Given the description of an element on the screen output the (x, y) to click on. 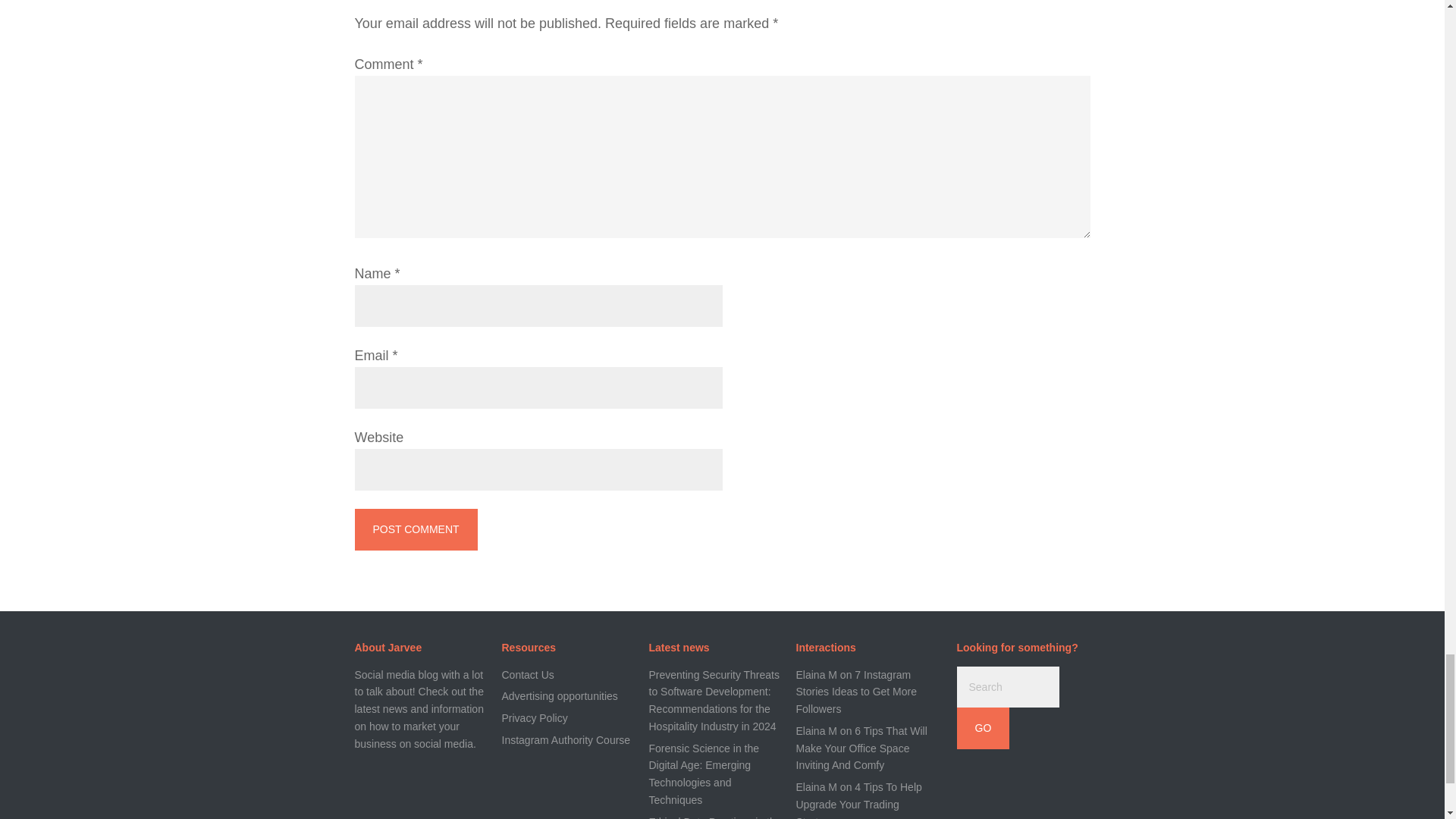
Go (983, 728)
Go (983, 728)
Instagram Authority Course (566, 739)
6 Tips That Will Make Your Office Space Inviting And Comfy (861, 748)
Privacy Policy (534, 717)
Post Comment (416, 529)
7 Instagram Stories Ideas to Get More Followers (856, 692)
Post Comment (416, 529)
Go (983, 728)
Contact Us (528, 674)
Advertising opportunities (559, 695)
4 Tips To Help Upgrade Your Trading Strategy (858, 800)
